Given the description of an element on the screen output the (x, y) to click on. 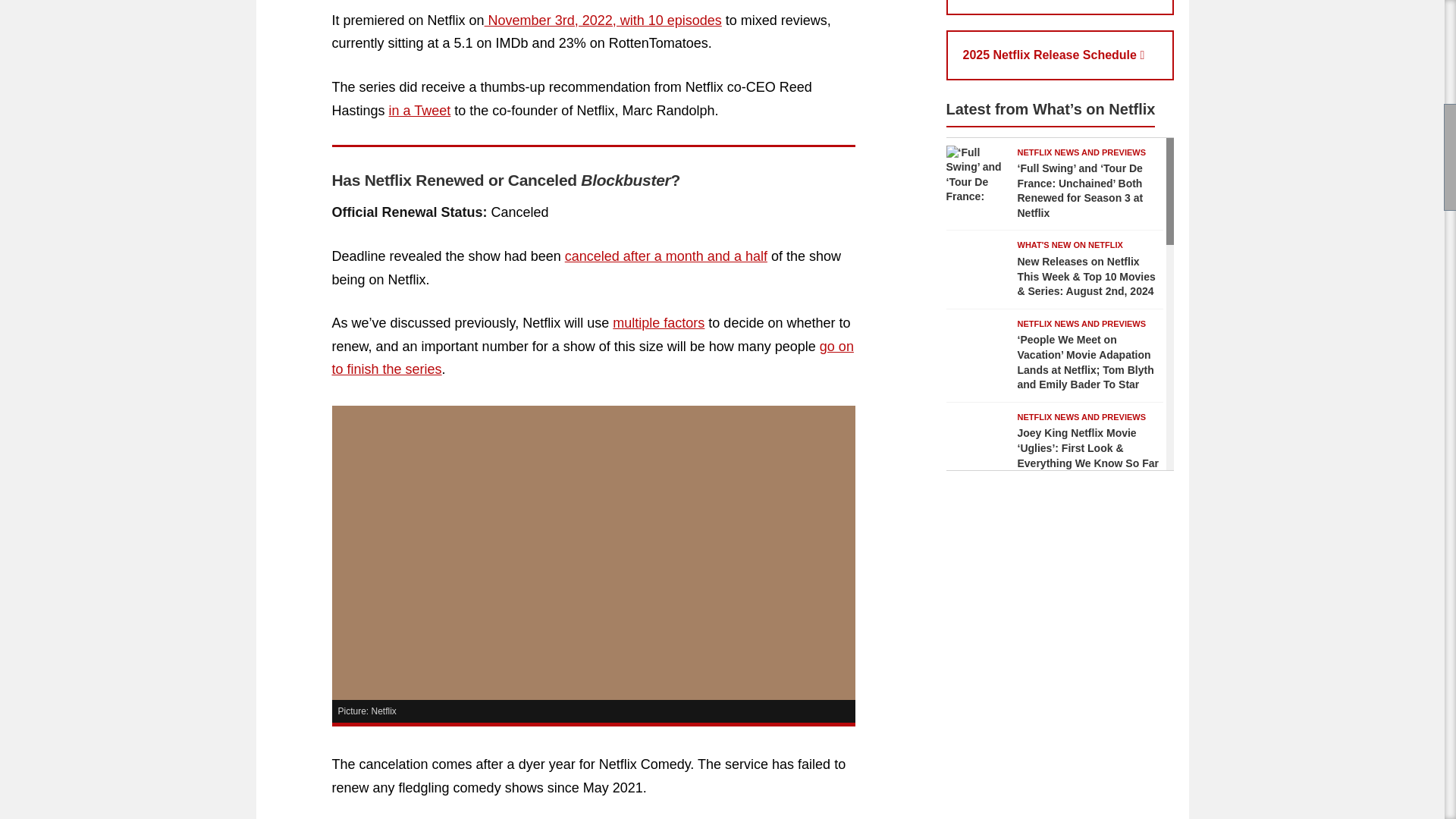
multiple factors (658, 322)
in a Tweet (419, 110)
go on to finish the series (592, 358)
2024 Netflix Release Schedule (1059, 7)
November 3rd, 2022, with 10 episodes (603, 20)
canceled after a month and a half (665, 255)
2025 Netflix Release Schedule (1059, 55)
